Given the description of an element on the screen output the (x, y) to click on. 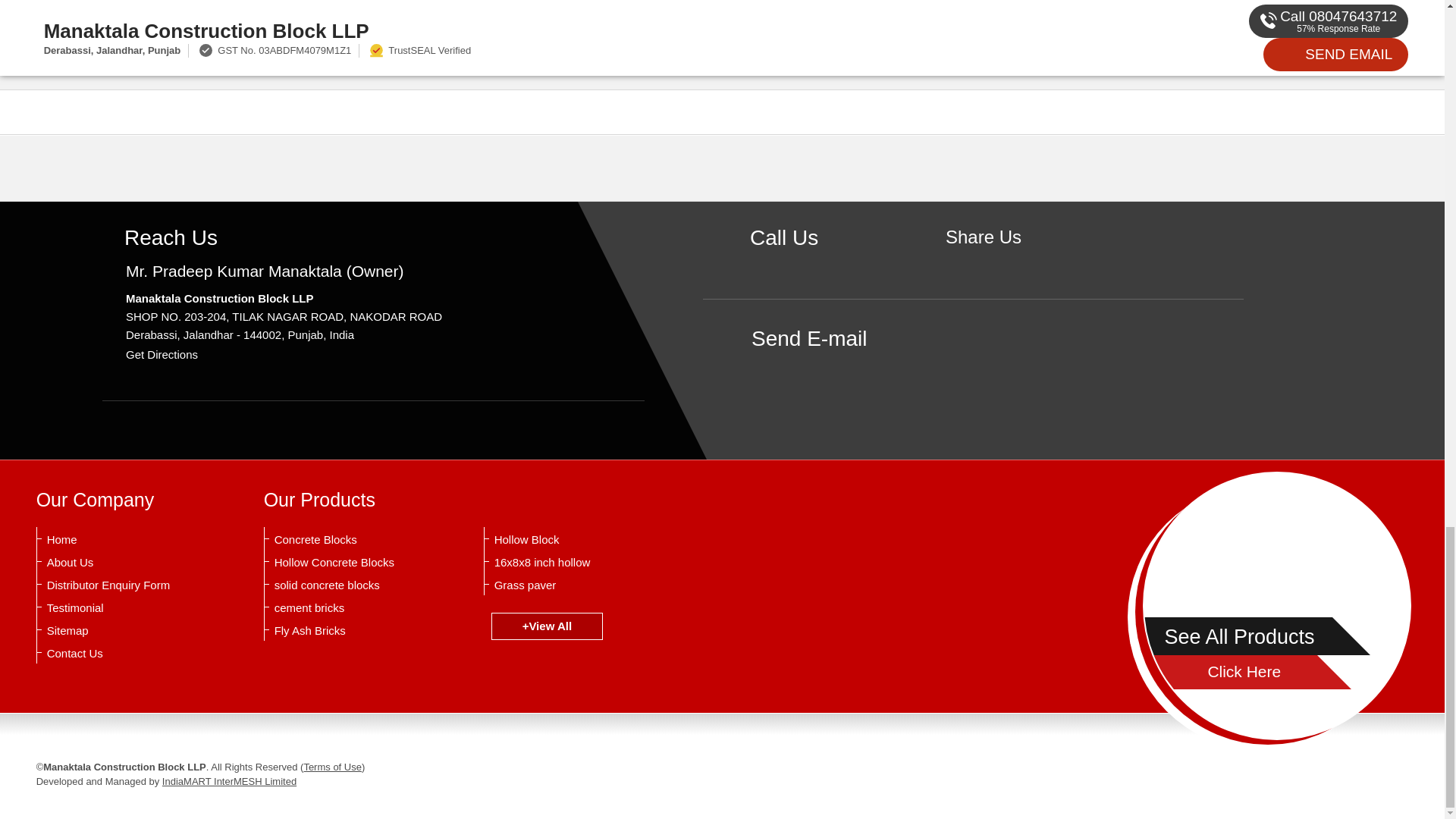
Sitemap (121, 630)
Twitter (1006, 262)
Hollow Concrete Blocks (348, 562)
Contact Us (121, 653)
Distributor Enquiry Form (121, 585)
solid concrete blocks (348, 585)
Facebook (983, 262)
Concrete Blocks (348, 539)
Home (121, 539)
Get Directions (161, 354)
